Given the description of an element on the screen output the (x, y) to click on. 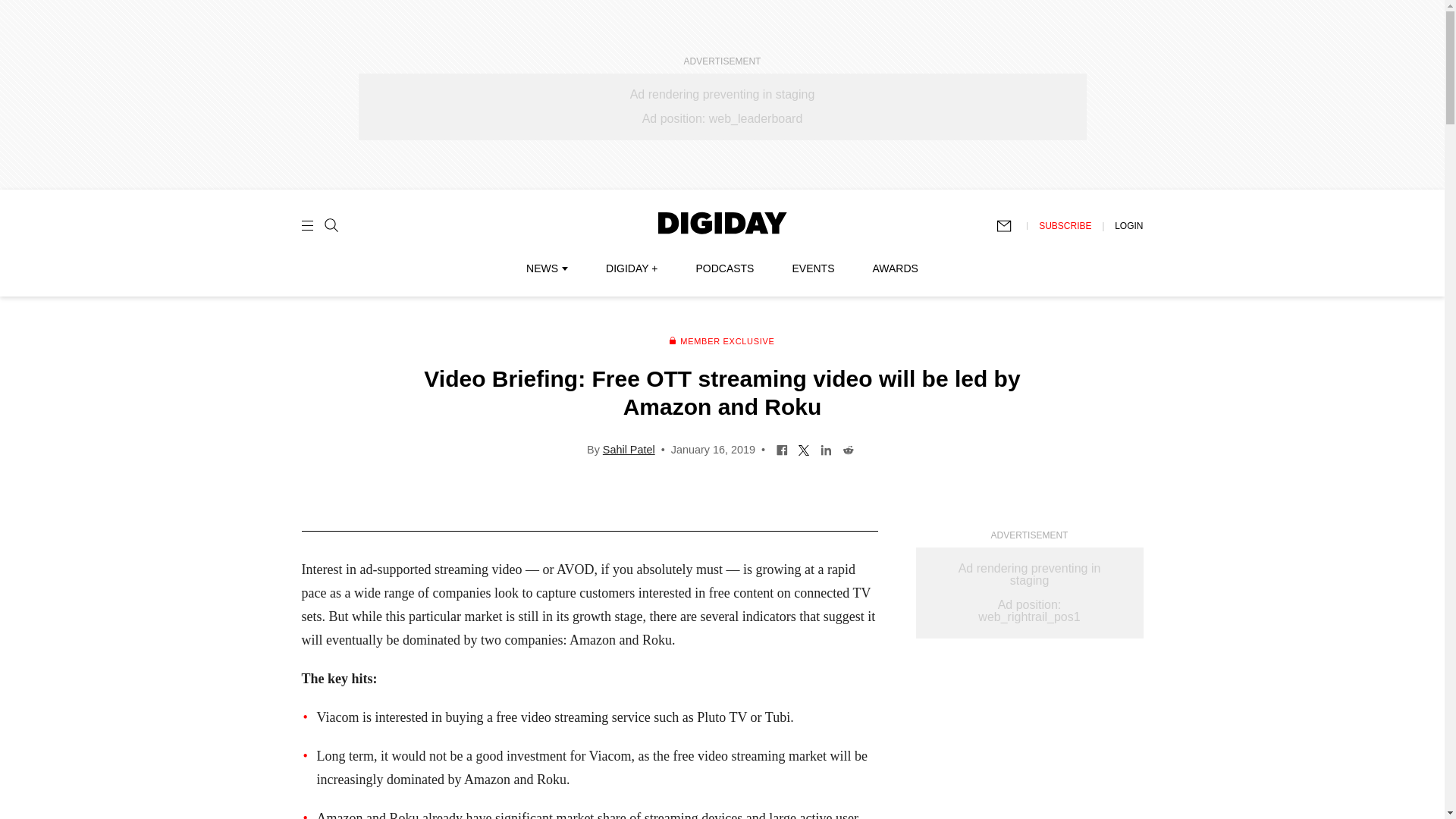
AWARDS (894, 267)
EVENTS (813, 267)
NEWS (546, 267)
Share on Reddit (847, 449)
Share on Twitter (803, 449)
Subscribe (1010, 225)
Share on LinkedIn (825, 449)
SUBSCRIBE (1064, 225)
Share on Facebook (782, 449)
LOGIN (1128, 225)
